Given the description of an element on the screen output the (x, y) to click on. 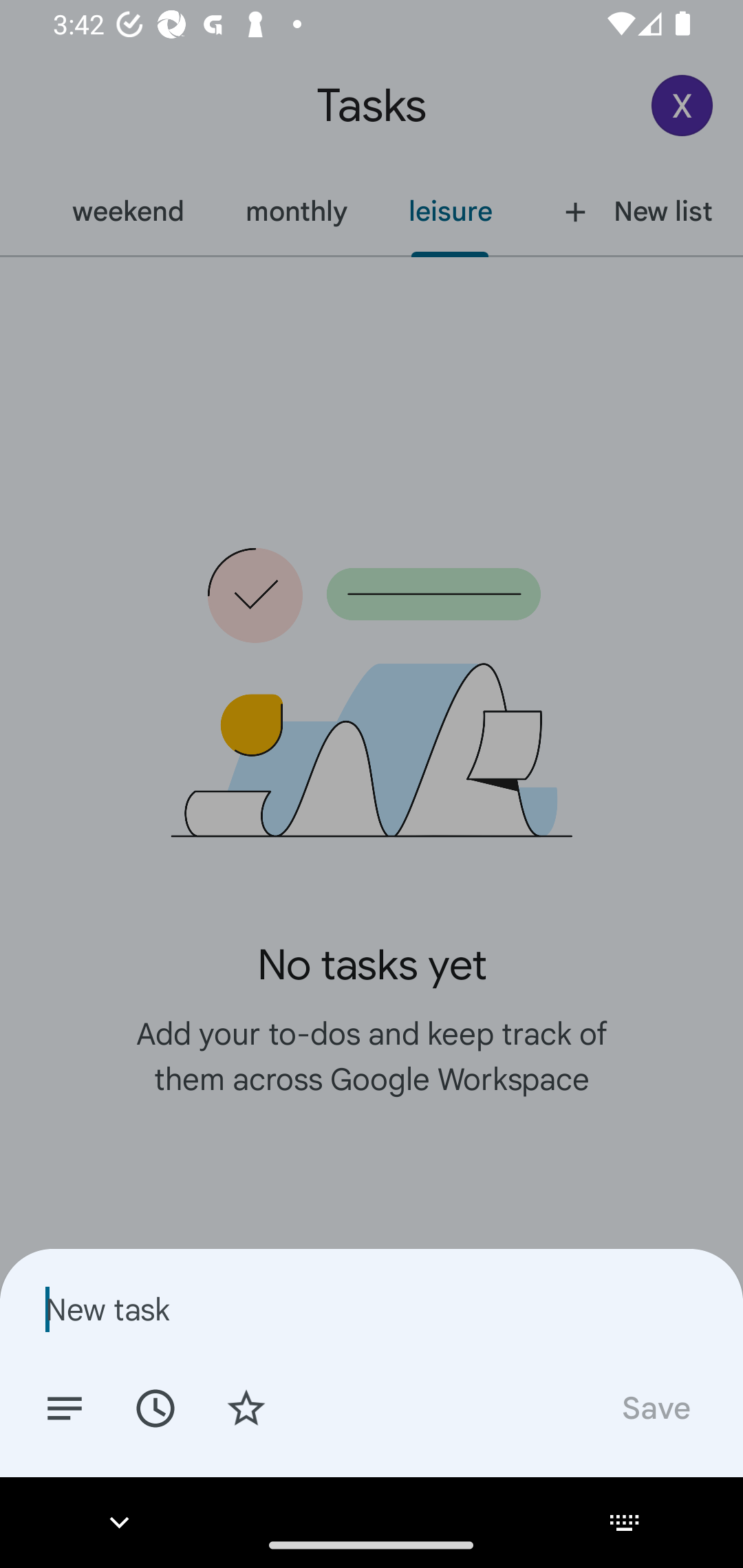
New task (371, 1308)
Save (655, 1407)
Add details (64, 1407)
Set date/time (154, 1407)
Add star (245, 1407)
